Given the description of an element on the screen output the (x, y) to click on. 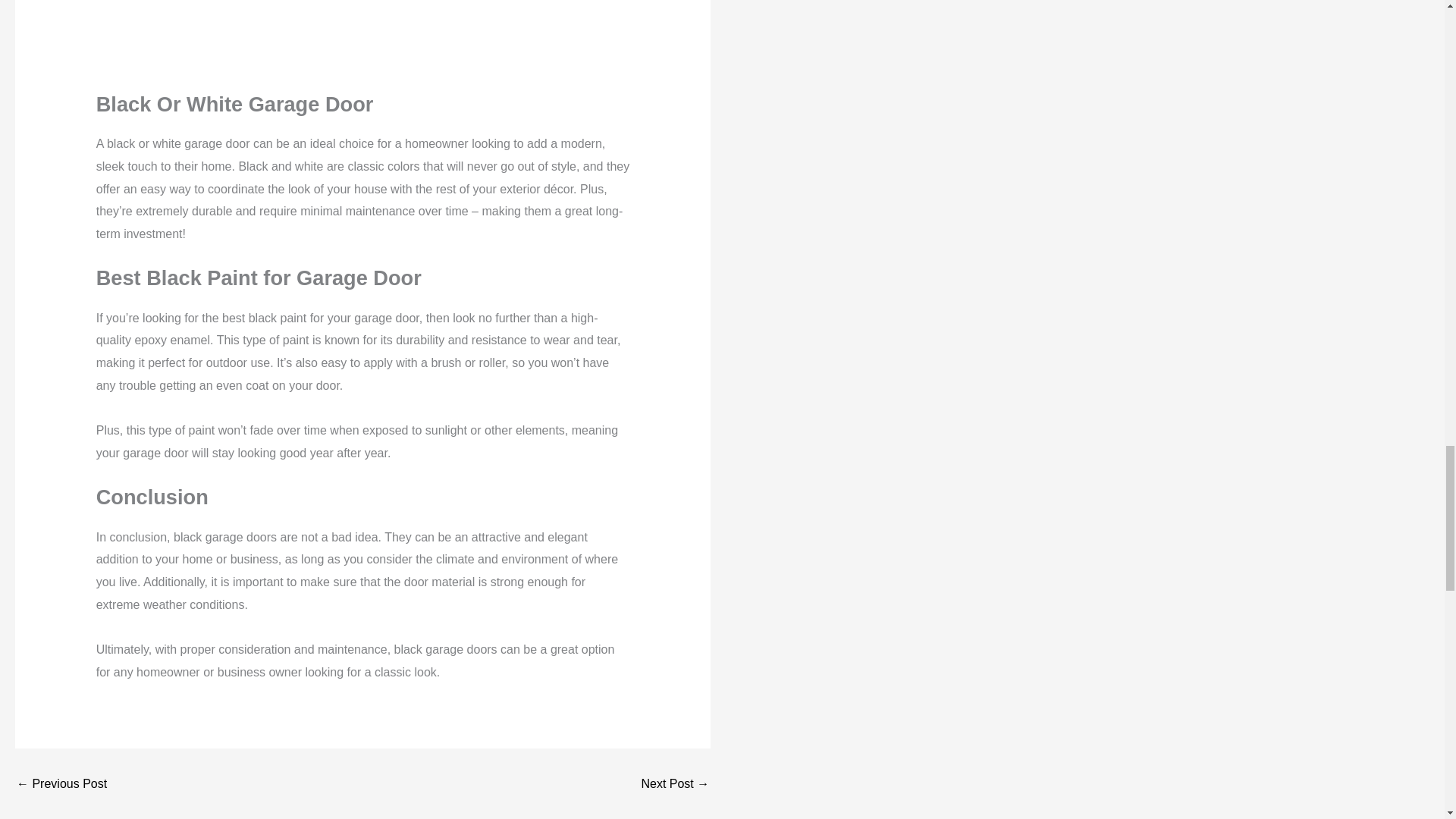
How to Get a Straight Line off a Crooked Wall (61, 784)
How to Dispose of Sod (674, 784)
